Given the description of an element on the screen output the (x, y) to click on. 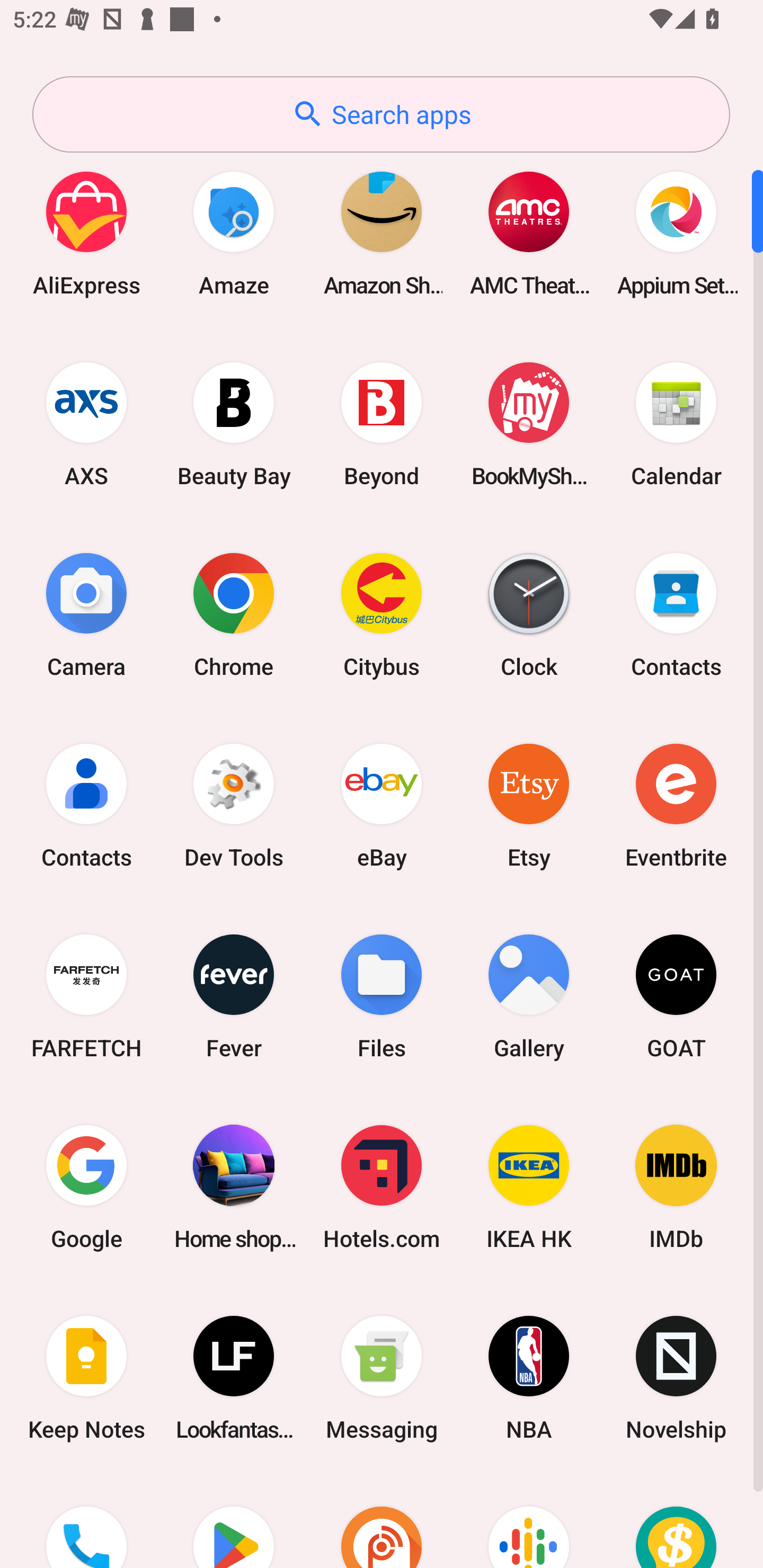
  Search apps (381, 114)
AliExpress (86, 233)
Amaze (233, 233)
Amazon Shopping (381, 233)
AMC Theatres (528, 233)
Appium Settings (676, 233)
AXS (86, 424)
Beauty Bay (233, 424)
Beyond (381, 424)
BookMyShow (528, 424)
Calendar (676, 424)
Camera (86, 614)
Chrome (233, 614)
Citybus (381, 614)
Clock (528, 614)
Contacts (676, 614)
Contacts (86, 805)
Dev Tools (233, 805)
eBay (381, 805)
Etsy (528, 805)
Eventbrite (676, 805)
FARFETCH (86, 996)
Fever (233, 996)
Files (381, 996)
Gallery (528, 996)
GOAT (676, 996)
Google (86, 1186)
Home shopping (233, 1186)
Hotels.com (381, 1186)
IKEA HK (528, 1186)
IMDb (676, 1186)
Keep Notes (86, 1377)
Lookfantastic (233, 1377)
Messaging (381, 1377)
NBA (528, 1377)
Novelship (676, 1377)
Phone (86, 1520)
Play Store (233, 1520)
Podcast Addict (381, 1520)
Podcasts (528, 1520)
Price (676, 1520)
